Given the description of an element on the screen output the (x, y) to click on. 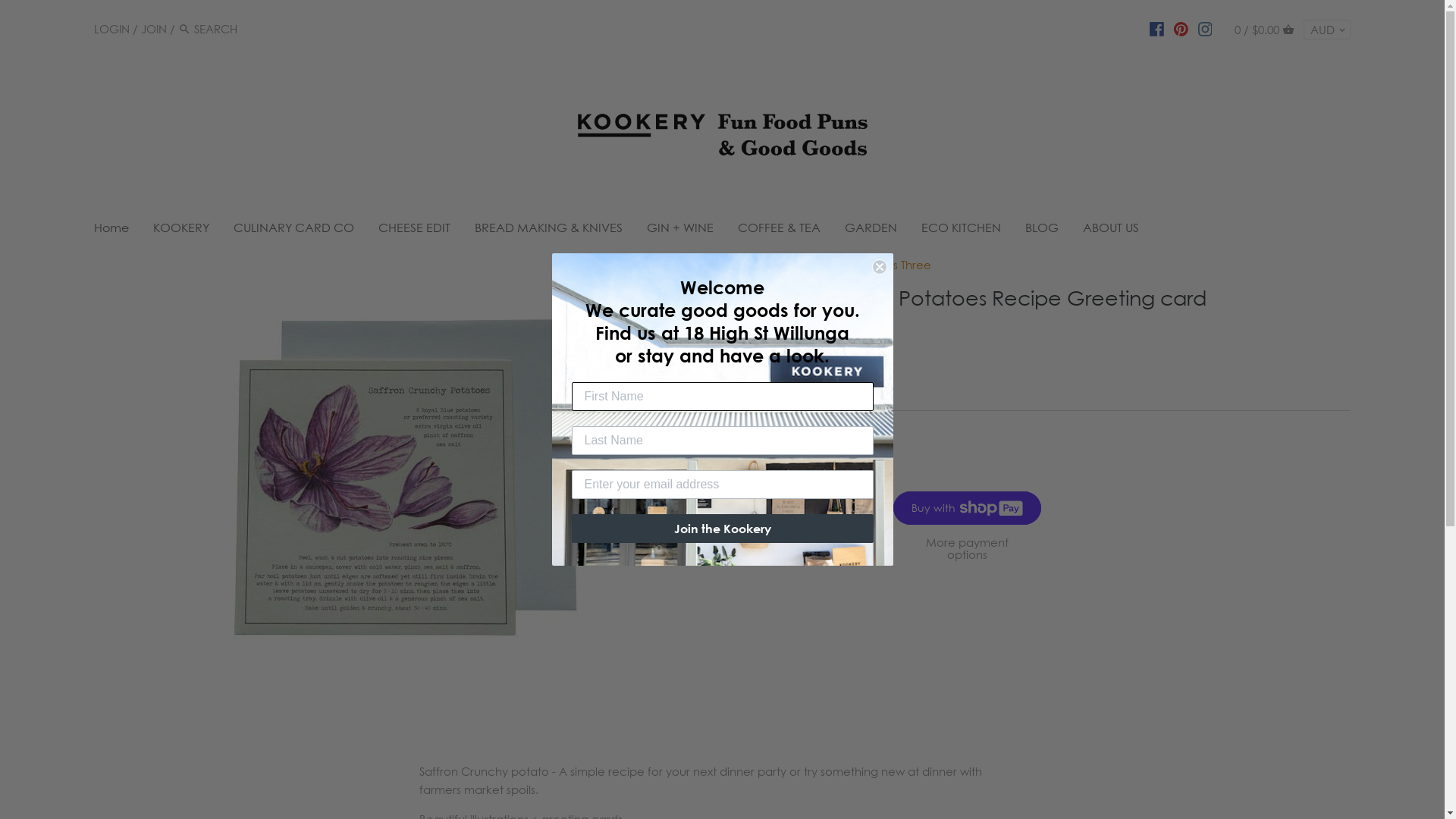
CULINARY CARD CO Element type: text (293, 230)
Search Element type: text (184, 29)
PINTEREST Element type: text (1180, 27)
0 / $0.00 CART Element type: text (1264, 28)
CHEESE EDIT Element type: text (414, 230)
Twitter Element type: text (806, 377)
The Culinary Card Co Element type: text (795, 264)
KOOKERY Element type: text (181, 230)
Email Element type: text (844, 377)
Pinterest Element type: text (825, 377)
Facebook Element type: text (787, 377)
Join the Kookery Element type: text (722, 528)
COFFEE & TEA Element type: text (778, 230)
BLOG Element type: text (1041, 230)
Home Element type: text (117, 230)
ECO KITCHEN Element type: text (961, 230)
GIN + WINE Element type: text (679, 230)
Series Three Element type: text (898, 264)
Add to cart Element type: text (810, 507)
INSTAGRAM Element type: text (1205, 27)
More payment options Element type: text (967, 548)
FACEBOOK Element type: text (1156, 27)
Submit Element type: text (36, 15)
BREAD MAKING & KNIVES Element type: text (548, 230)
LOGIN Element type: text (111, 28)
GARDEN Element type: text (870, 230)
JOIN Element type: text (153, 28)
ABOUT US Element type: text (1110, 230)
